Given the description of an element on the screen output the (x, y) to click on. 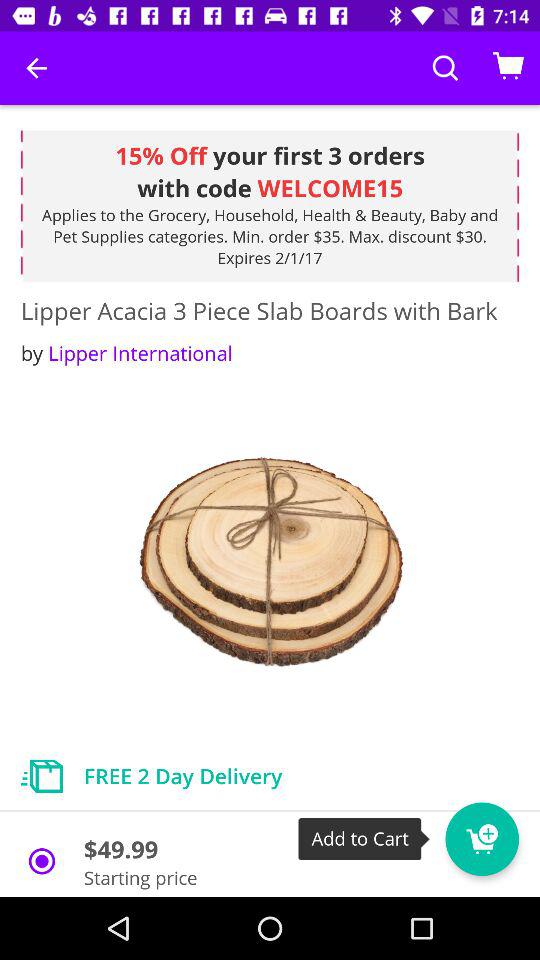
choose item on the left (126, 352)
